Given the description of an element on the screen output the (x, y) to click on. 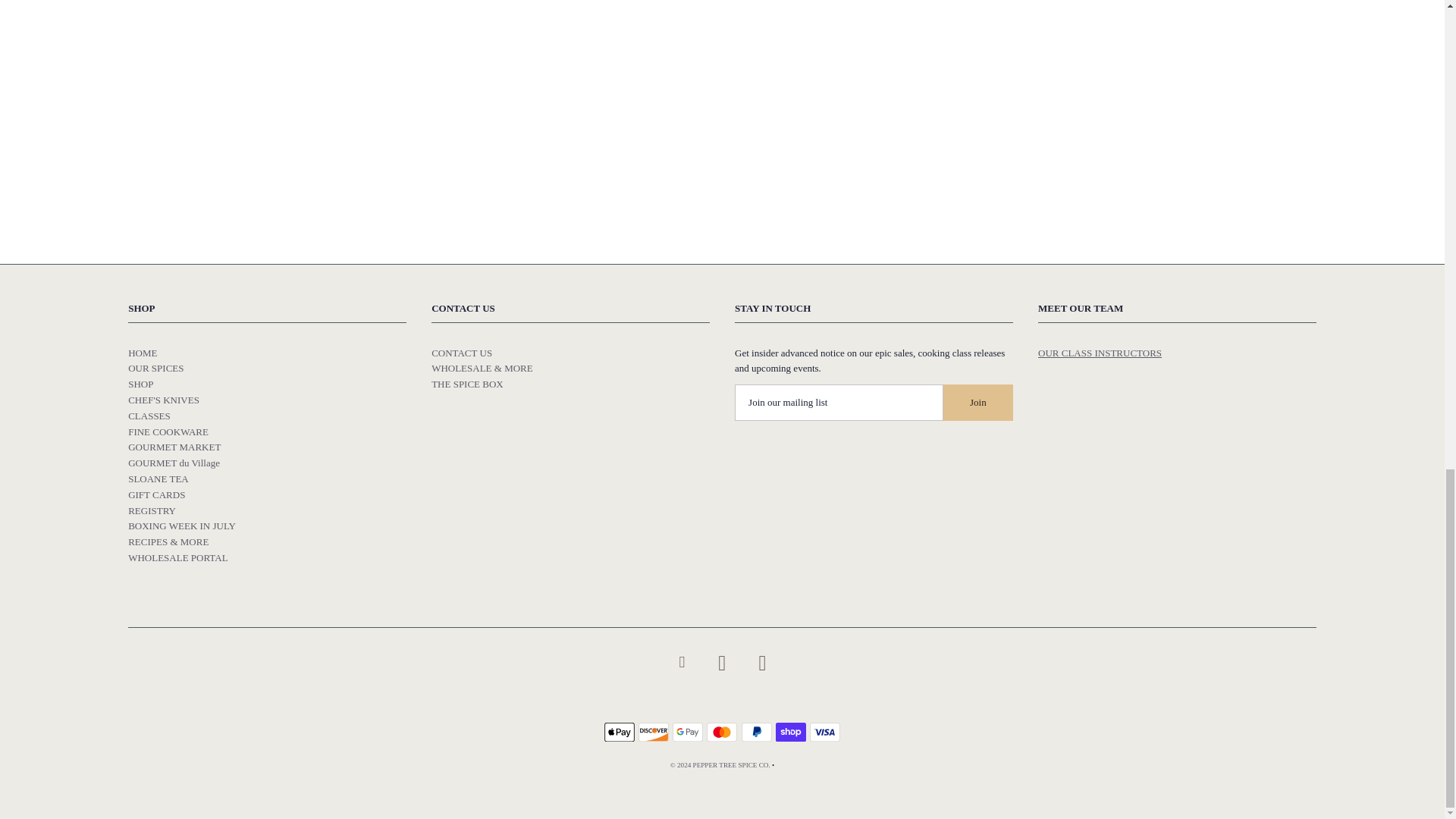
Apple Pay (619, 732)
Mastercard (721, 732)
Join (978, 402)
Visa (824, 732)
Google Pay (687, 732)
Discover (653, 732)
Shop Pay (791, 732)
PayPal (756, 732)
